Given the description of an element on the screen output the (x, y) to click on. 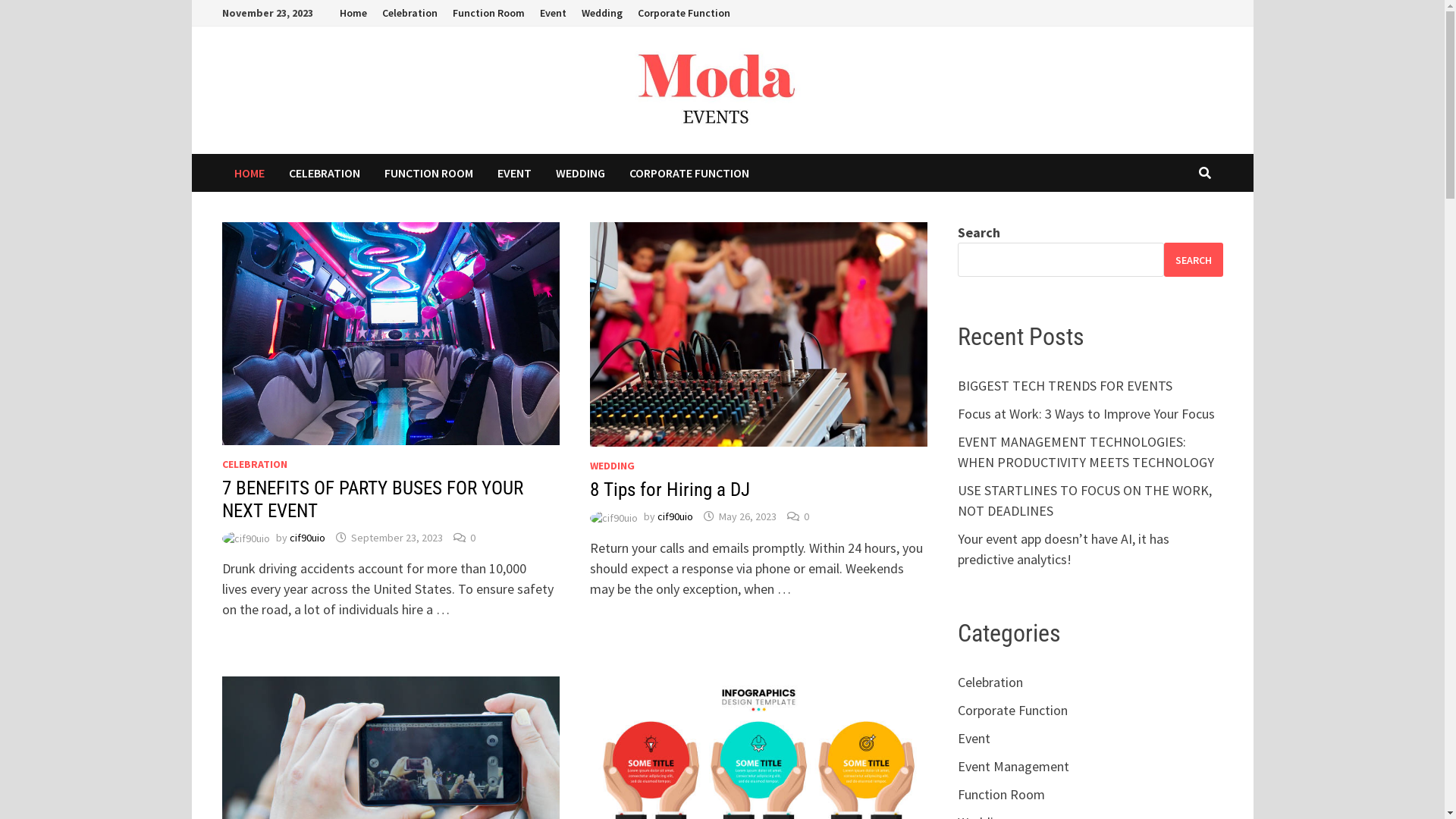
cif90uio Element type: text (307, 537)
Event Element type: text (973, 737)
Event Element type: text (553, 13)
HOME Element type: text (248, 172)
May 26, 2023 Element type: text (747, 516)
CORPORATE FUNCTION Element type: text (689, 172)
EVENT Element type: text (514, 172)
CELEBRATION Element type: text (253, 463)
Corporate Function Element type: text (1012, 709)
FUNCTION ROOM Element type: text (427, 172)
Event Management Element type: text (1013, 766)
USE STARTLINES TO FOCUS ON THE WORK, NOT DEADLINES Element type: text (1084, 500)
Home Element type: text (353, 13)
0 Element type: text (806, 516)
Celebration Element type: text (409, 13)
Corporate Function Element type: text (683, 13)
0 Element type: text (472, 537)
Function Room Element type: text (1000, 794)
CELEBRATION Element type: text (323, 172)
BIGGEST TECH TRENDS FOR EVENTS Element type: text (1064, 385)
SEARCH Element type: text (1192, 259)
September 23, 2023 Element type: text (396, 537)
Wedding Element type: text (601, 13)
Focus at Work: 3 Ways to Improve Your Focus Element type: text (1085, 413)
7 BENEFITS OF PARTY BUSES FOR YOUR NEXT EVENT Element type: text (371, 498)
WEDDING Element type: text (611, 465)
WEDDING Element type: text (579, 172)
Celebration Element type: text (989, 681)
cif90uio Element type: text (675, 516)
Function Room Element type: text (487, 13)
8 Tips for Hiring a DJ Element type: text (669, 489)
